Given the description of an element on the screen output the (x, y) to click on. 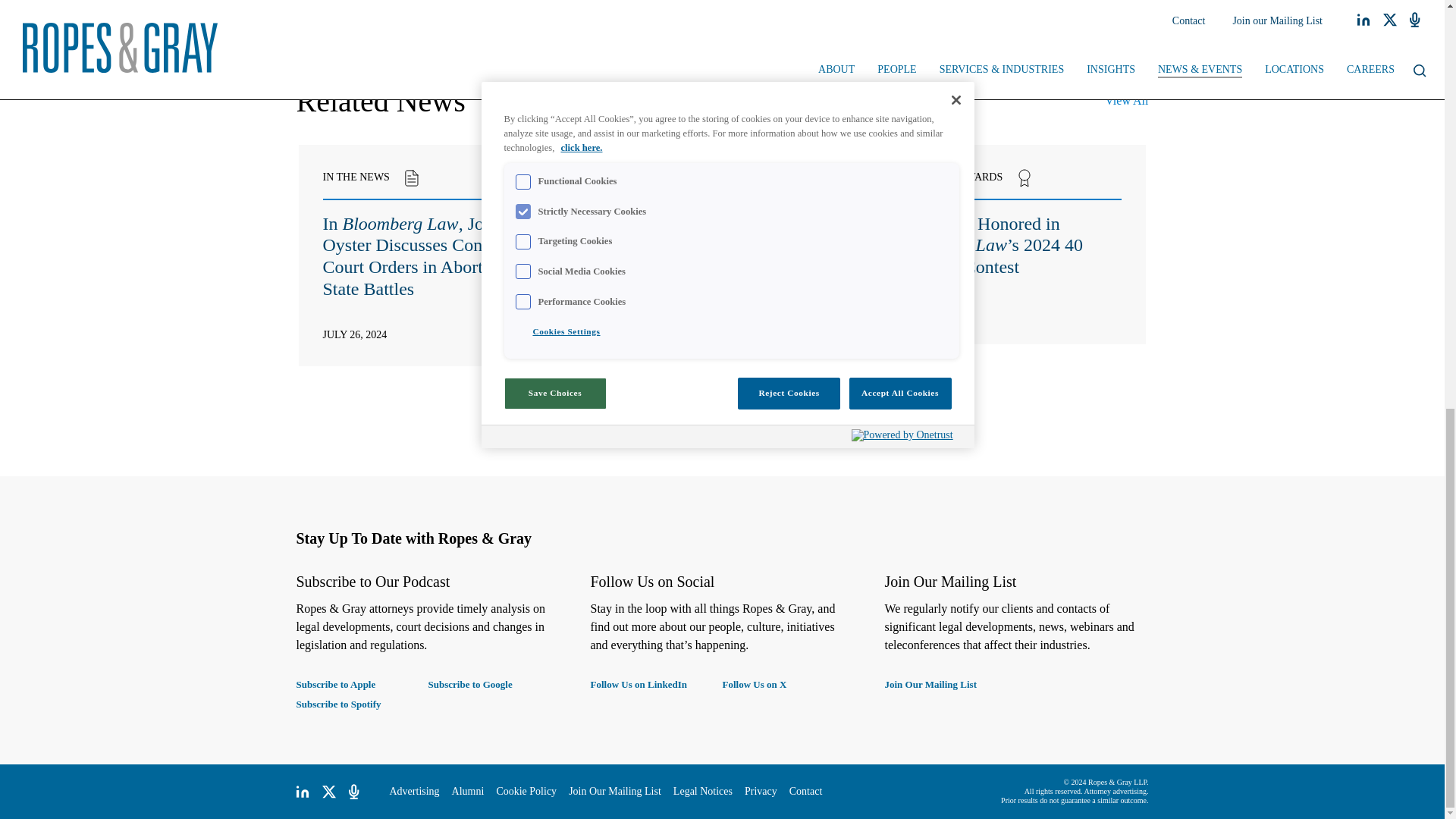
Subscribe to Spotify (361, 703)
Follow Us on LinkedIn (655, 684)
linkedin (301, 791)
LOAD MORE (722, 403)
Subscribe to Apple (361, 684)
View All (1126, 100)
Subscribe to Google (493, 684)
x (328, 791)
